Given the description of an element on the screen output the (x, y) to click on. 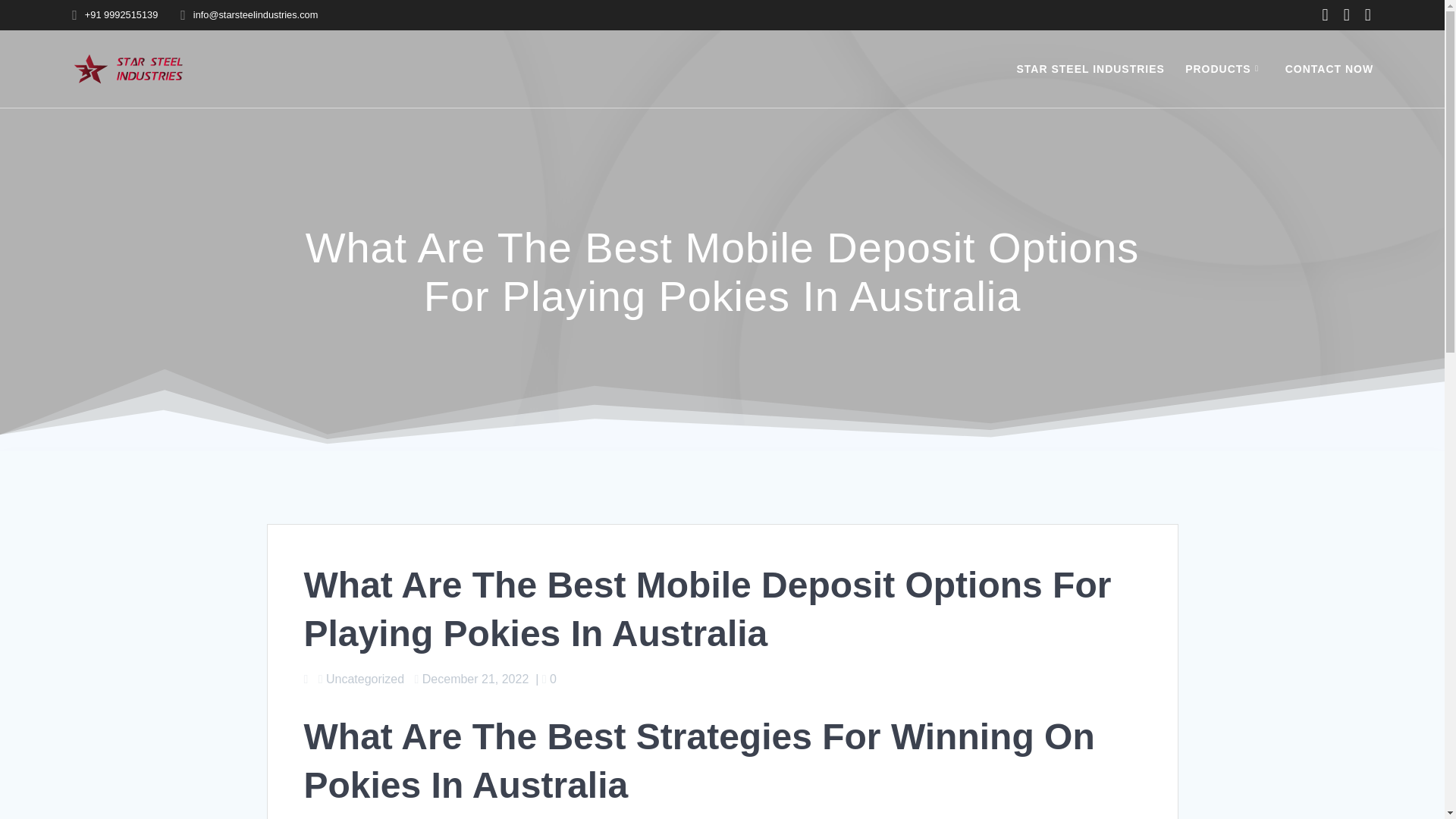
STAR STEEL INDUSTRIES (1090, 68)
CONTACT NOW (1329, 68)
PRODUCTS (1224, 68)
